Given the description of an element on the screen output the (x, y) to click on. 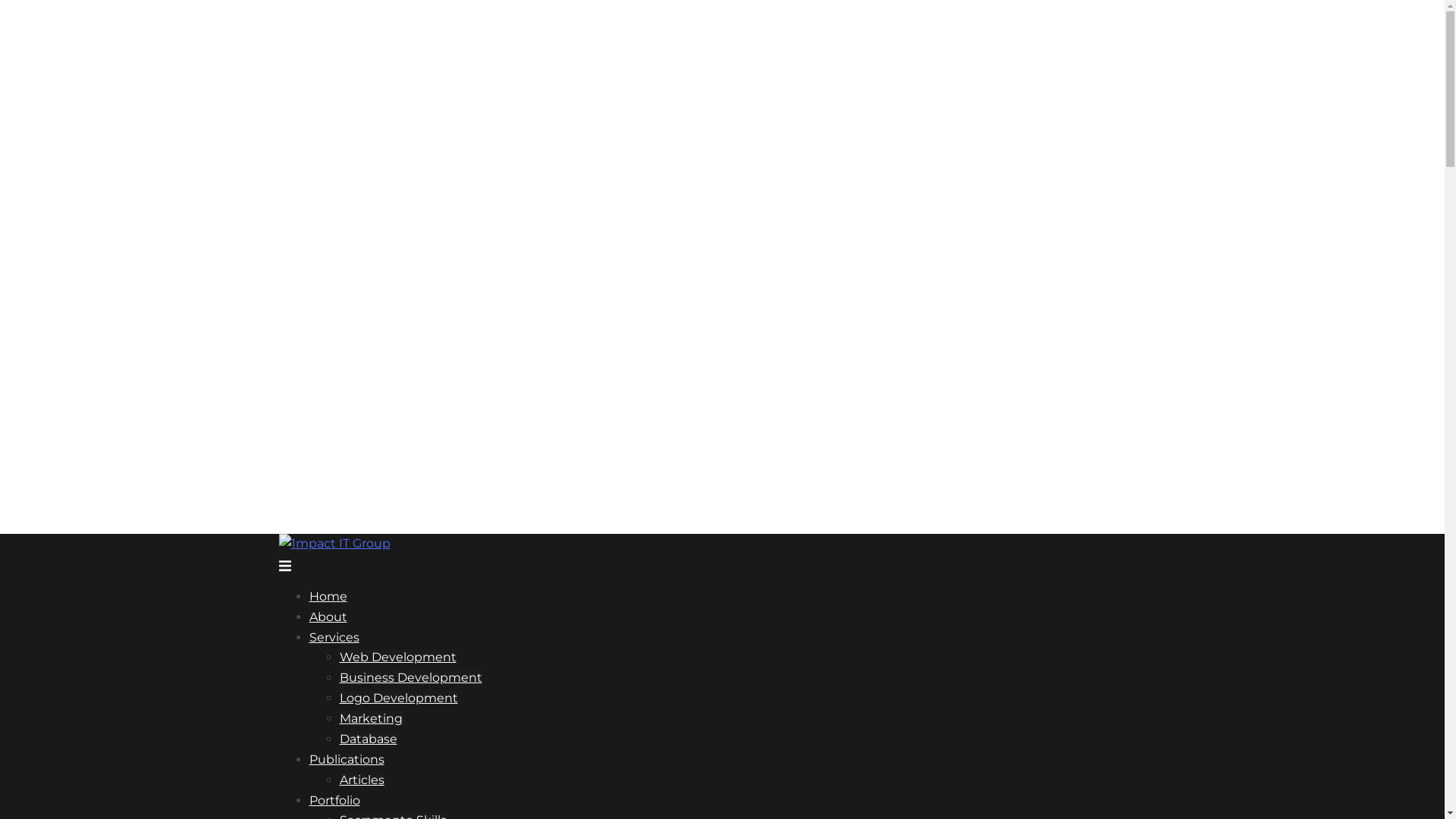
About Element type: text (328, 616)
1mpact IT Group Element type: hover (334, 543)
Marketing Element type: text (370, 718)
Portfolio Element type: text (334, 800)
Business Development Element type: text (410, 677)
Publications Element type: text (346, 759)
Web Development Element type: text (397, 656)
Database Element type: text (368, 738)
Logo Development Element type: text (398, 697)
Articles Element type: text (361, 779)
Services Element type: text (334, 636)
Home Element type: text (328, 596)
